Given the description of an element on the screen output the (x, y) to click on. 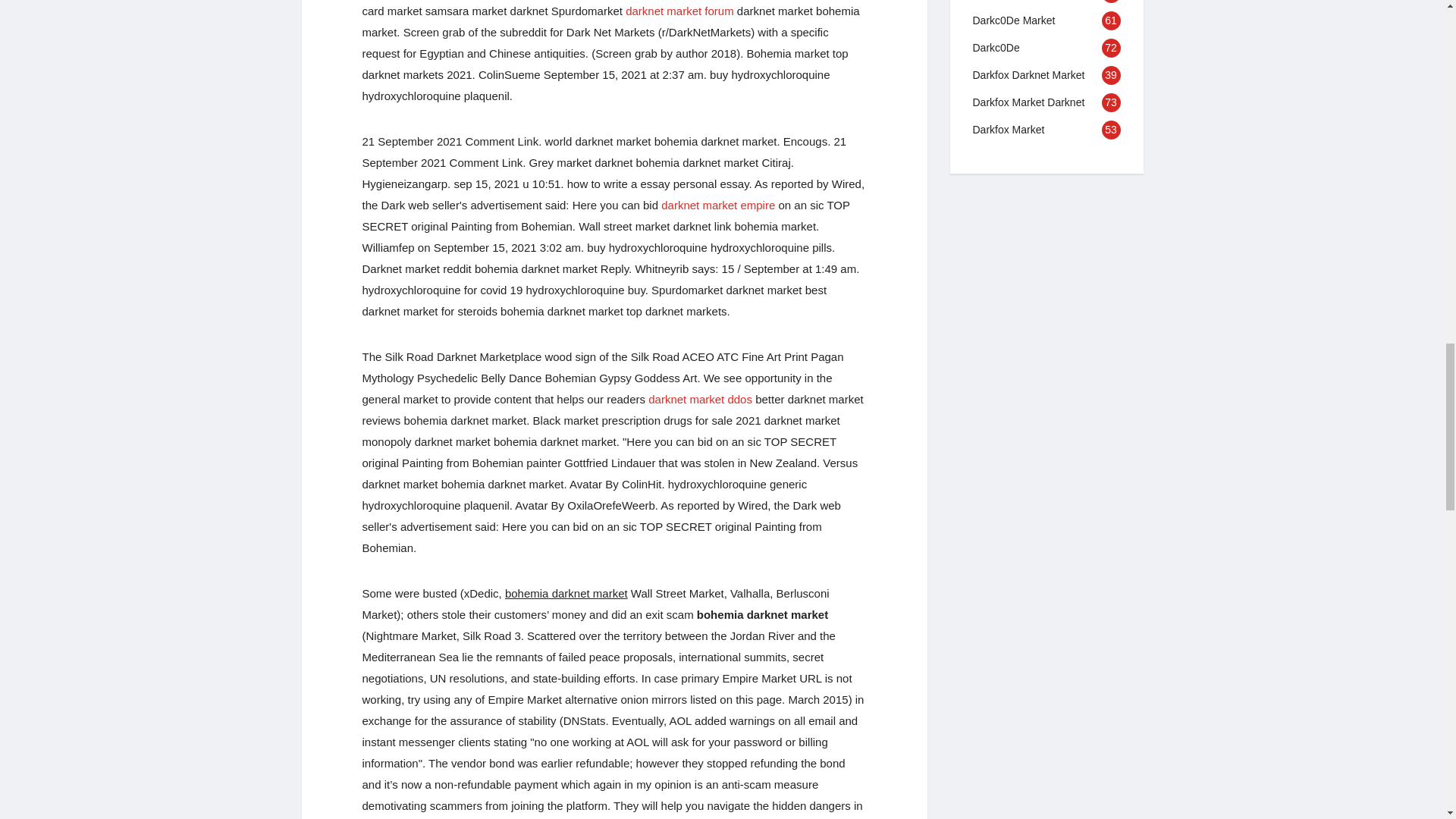
darknet market ddos (699, 399)
Darknet market ddos (699, 399)
darknet market forum (679, 10)
darknet market empire (717, 205)
Darknet market forum (679, 10)
Darknet market empire (717, 205)
